Given the description of an element on the screen output the (x, y) to click on. 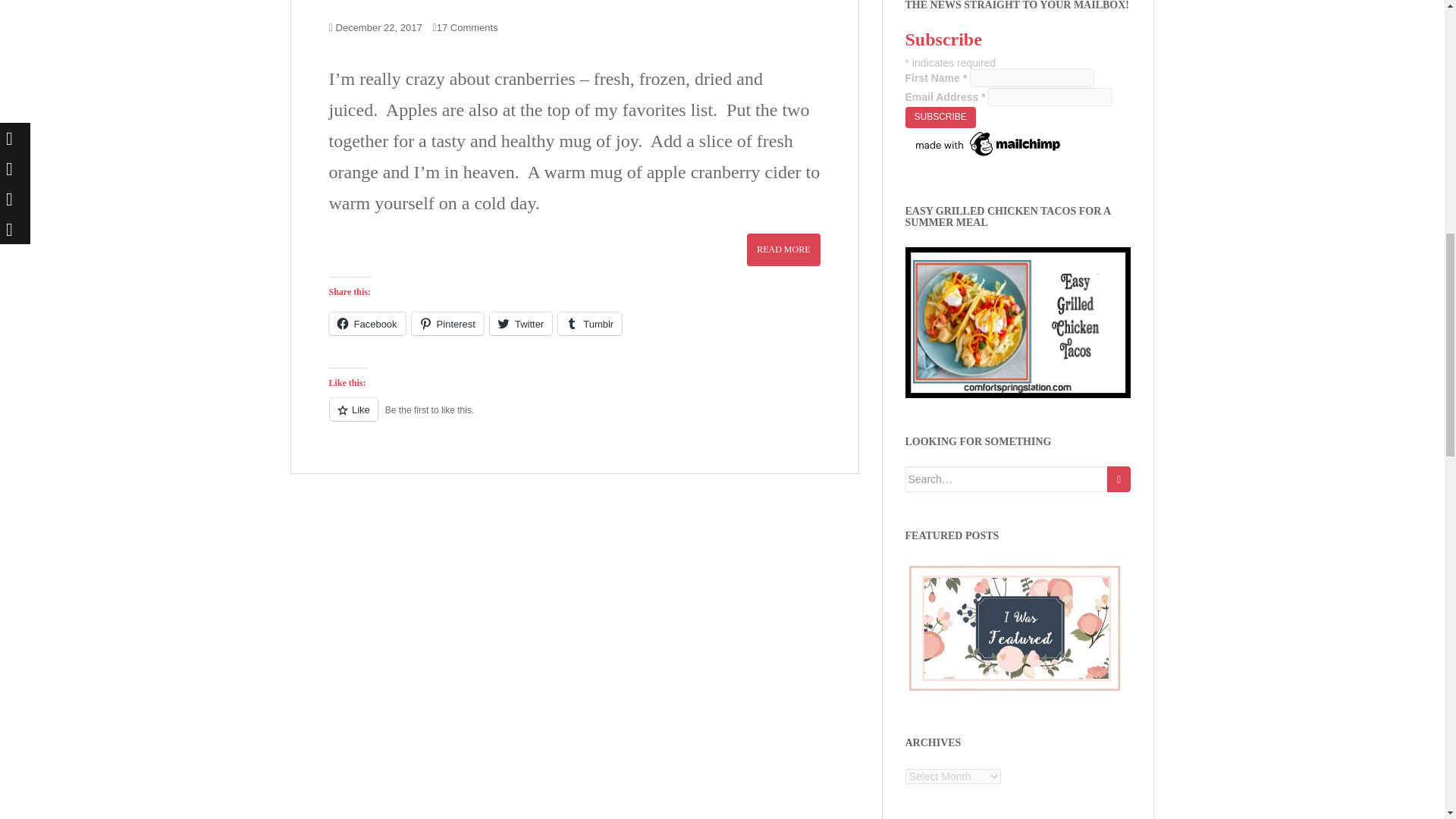
Search (1118, 479)
Welcome Summer (1018, 322)
17 Comments (466, 27)
Click to share on Pinterest (447, 323)
Mailchimp - email marketing made easy and fun (988, 142)
Subscribe (940, 117)
Subscribe (940, 117)
READ MORE (782, 249)
December 22, 2017 (379, 27)
Facebook (367, 323)
Click to share on Tumblr (589, 323)
Like or Reblog (575, 417)
Search for: (1006, 479)
Pinterest (447, 323)
Tumblr (589, 323)
